Given the description of an element on the screen output the (x, y) to click on. 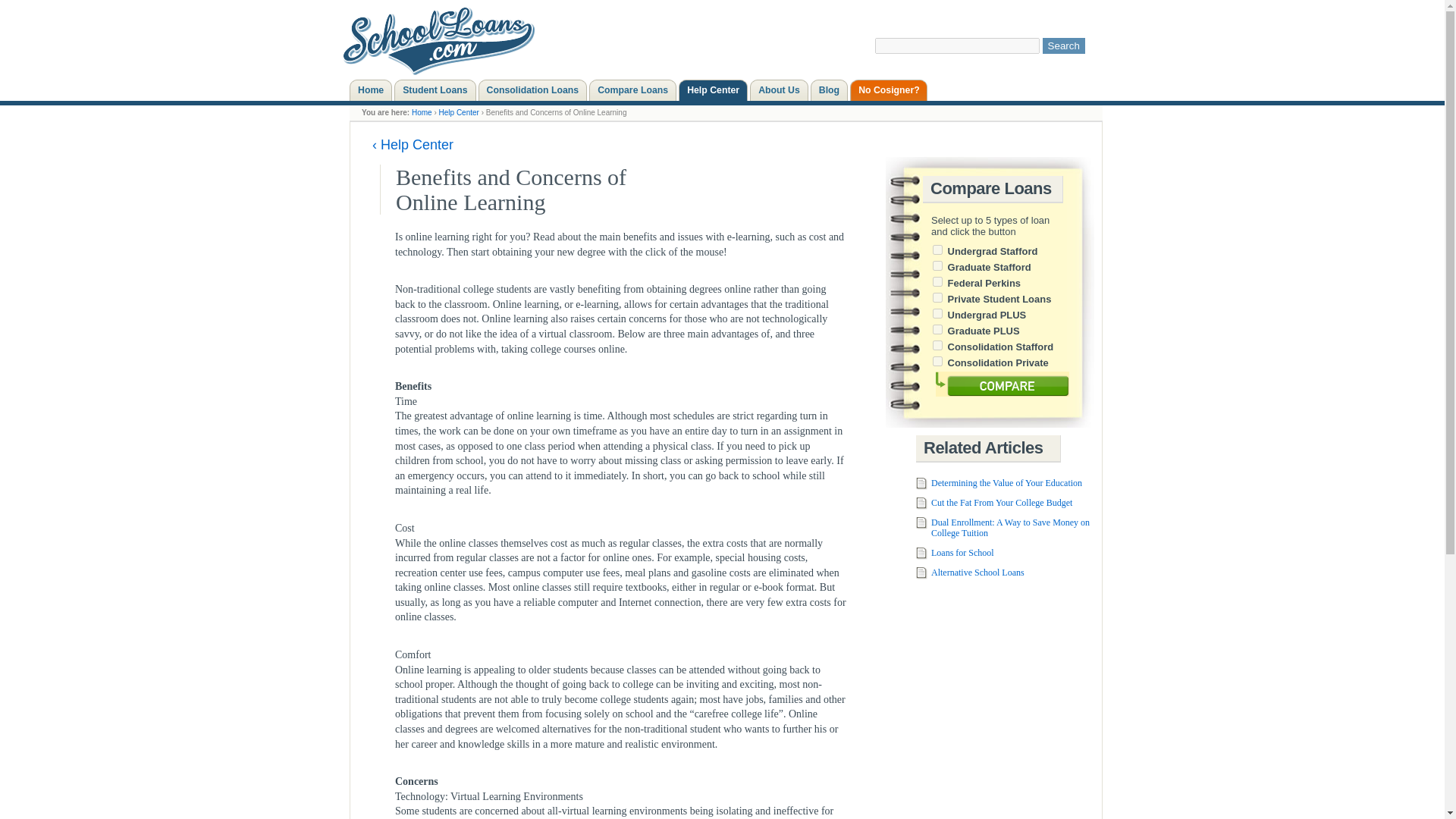
Consolidation Loans (532, 90)
Search (1063, 45)
October 10, 2011 (1001, 502)
About Us (778, 90)
Determining the Value of Your Education (1006, 482)
Dual Enrollment: A Way to Save Money on College Tuition (1010, 527)
No Cosigner? (889, 90)
Alternative School Loans (978, 572)
Student Loans (435, 90)
Cut the Fat From Your College Budget (1001, 502)
October 10, 2011 (1010, 527)
Compare Loans (632, 90)
Help Center (459, 112)
August 5, 2010 (1006, 482)
Home (371, 90)
